Given the description of an element on the screen output the (x, y) to click on. 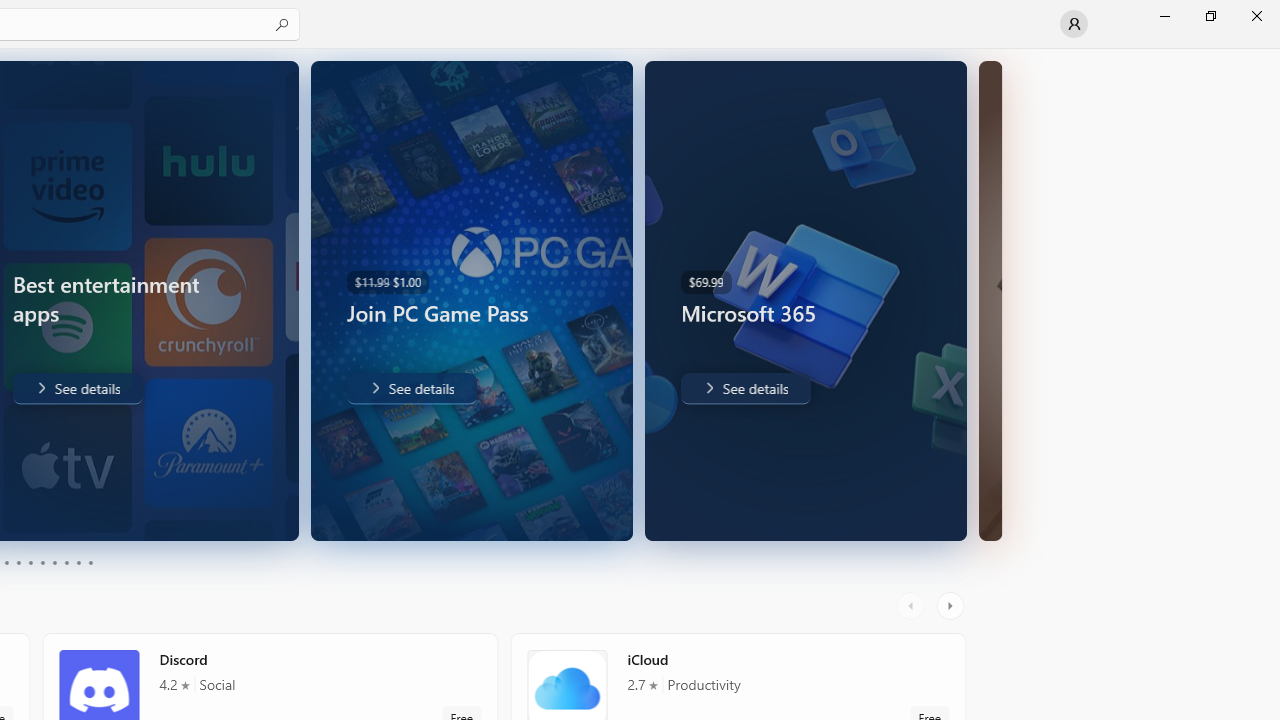
Page 10 (90, 562)
AutomationID: RightScrollButton (952, 606)
AutomationID: Image (989, 300)
Page 7 (54, 562)
Page 3 (5, 562)
Restore Microsoft Store (1210, 15)
Page 8 (65, 562)
Page 9 (77, 562)
Page 6 (41, 562)
Page 4 (17, 562)
Close Microsoft Store (1256, 15)
User profile (1073, 24)
AutomationID: LeftScrollButton (913, 606)
